Given the description of an element on the screen output the (x, y) to click on. 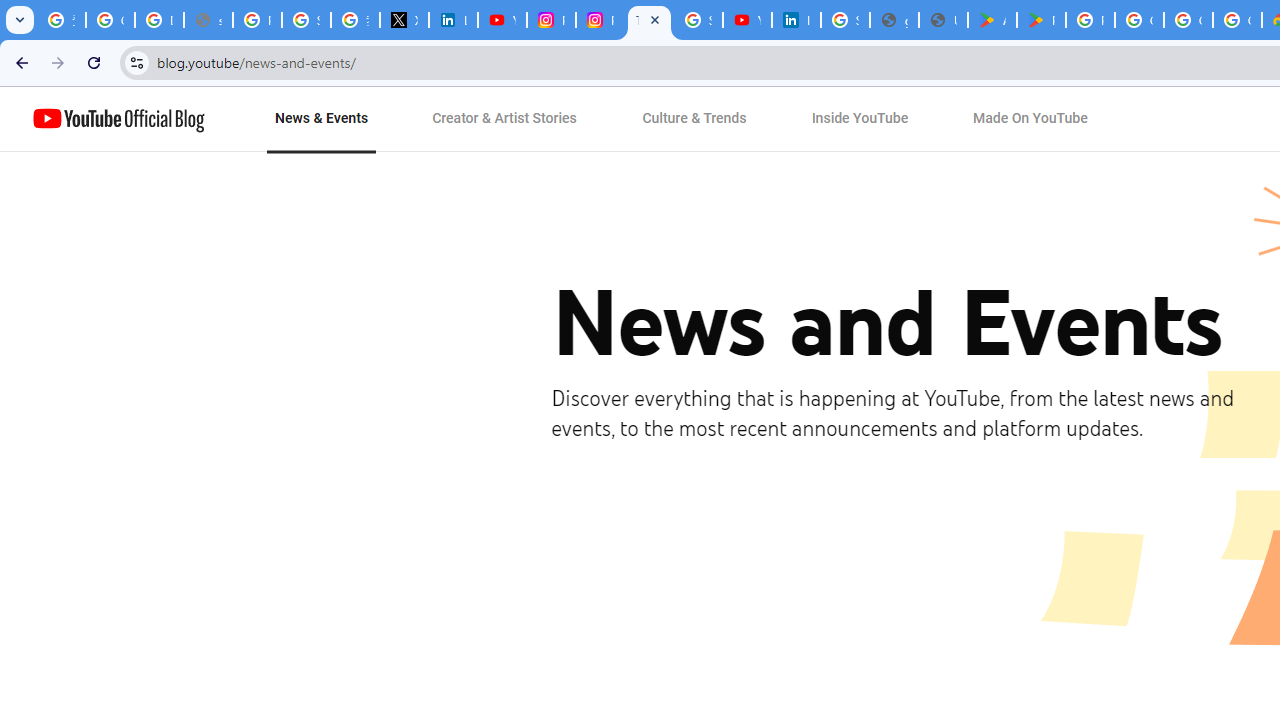
YouTube Official Blog logo (118, 119)
YouTube Content Monetization Policies - How YouTube Works (502, 20)
Android Apps on Google Play (992, 20)
Made On YouTube (1030, 119)
Google Workspace - Specific Terms (1188, 20)
Google Workspace - Specific Terms (1237, 20)
Privacy Help Center - Policies Help (257, 20)
google_privacy_policy_en.pdf (894, 20)
